Given the description of an element on the screen output the (x, y) to click on. 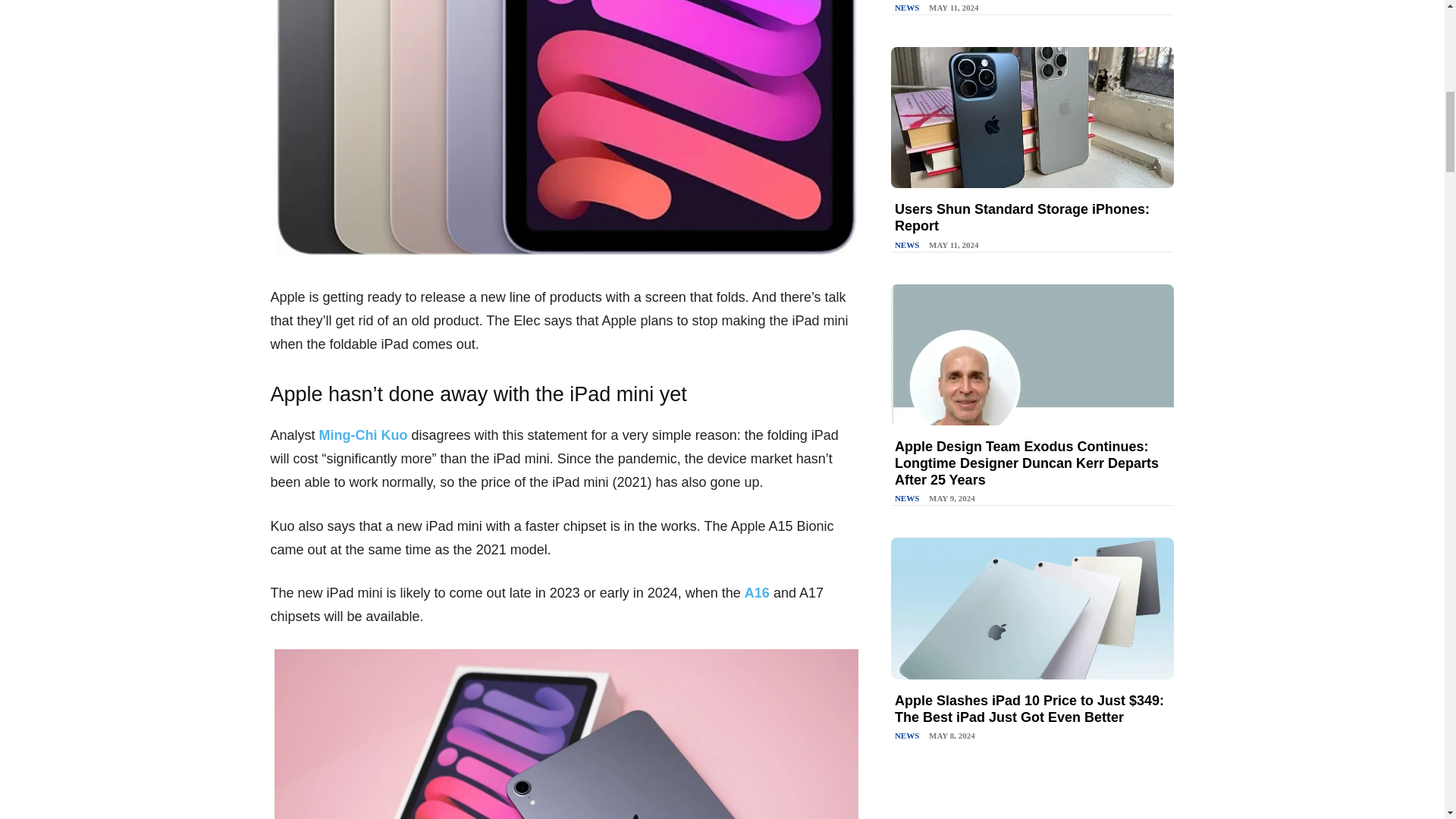
A16 (757, 592)
Ming-Chi Kuo (362, 435)
